Given the description of an element on the screen output the (x, y) to click on. 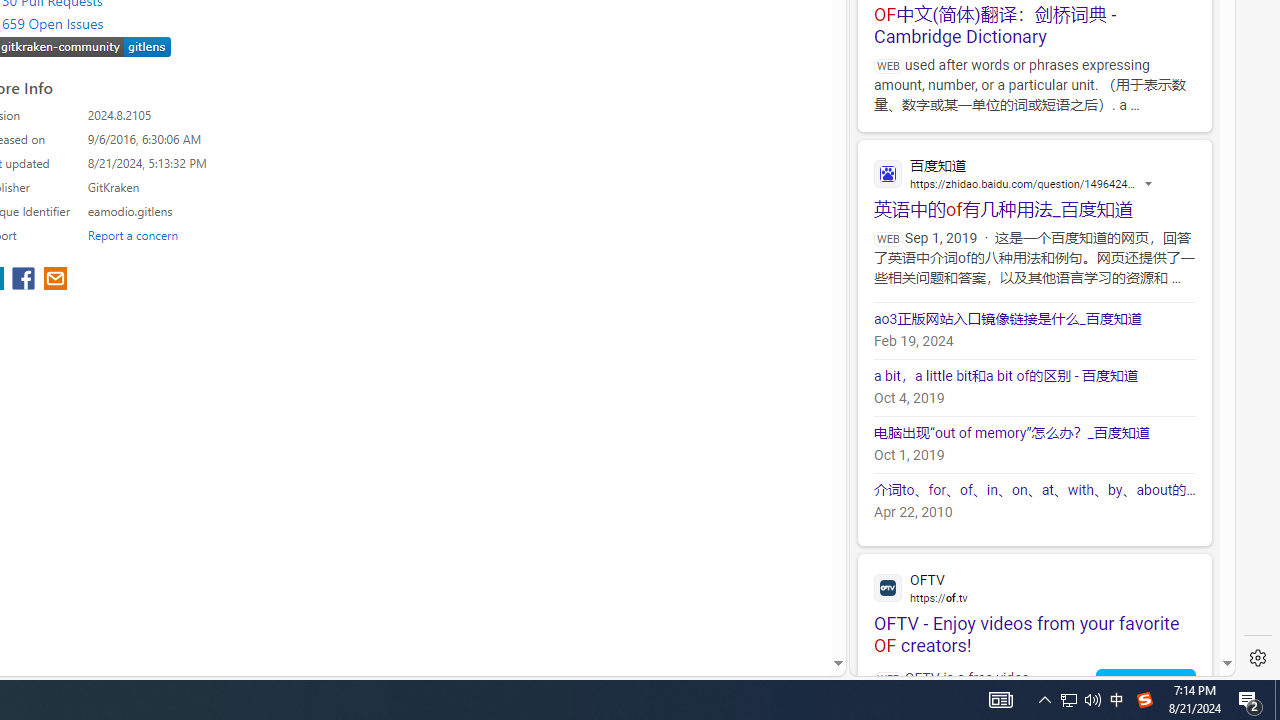
share extension on email (54, 280)
Report a concern (133, 234)
OFTV - Enjoy videos from your favorite OF creators! (1034, 604)
share extension on facebook (26, 280)
OFTV (1034, 587)
